Given the description of an element on the screen output the (x, y) to click on. 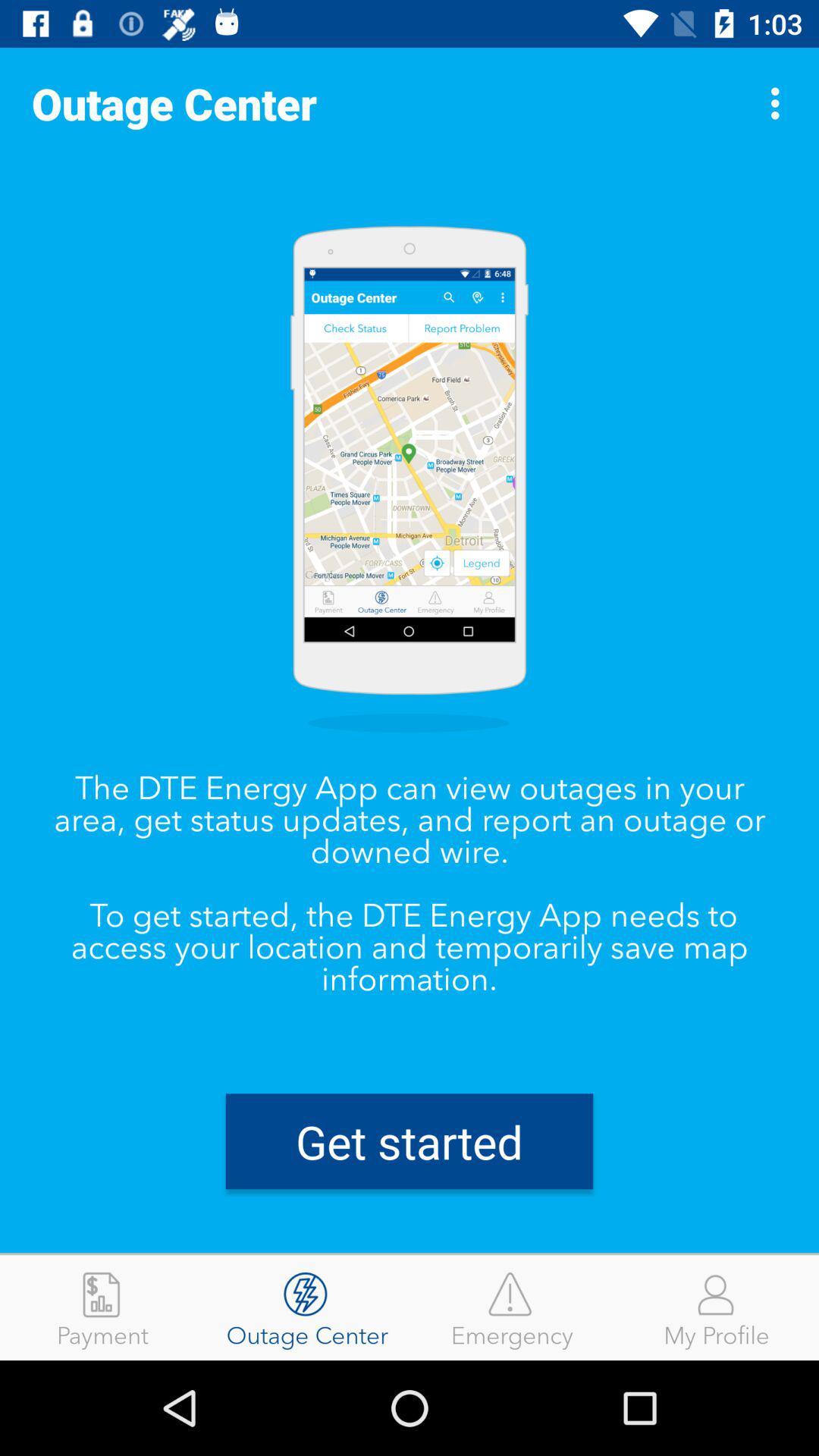
click the icon to the right of outage center item (779, 103)
